Given the description of an element on the screen output the (x, y) to click on. 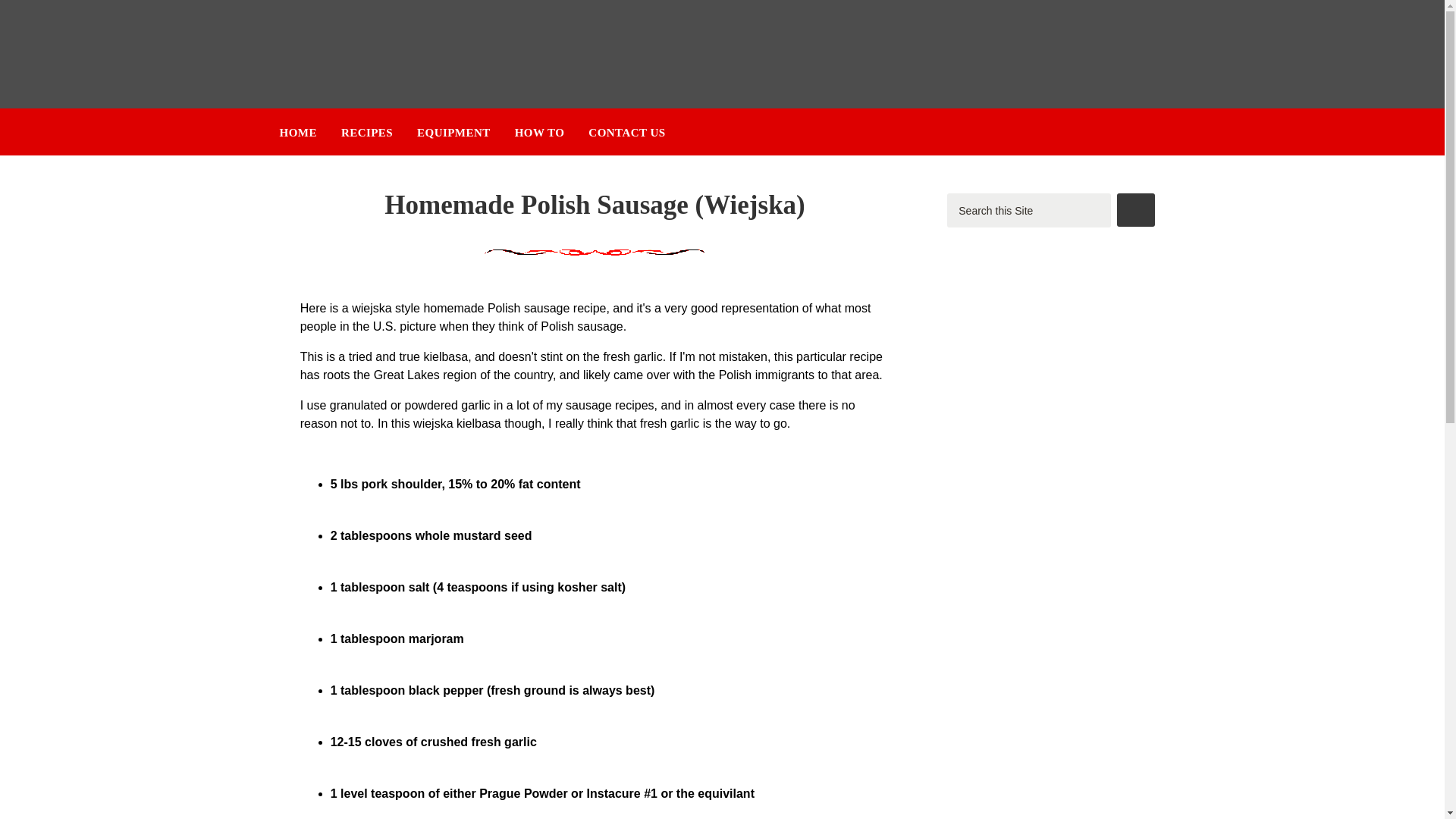
HOME (297, 132)
CONTACT US (626, 132)
Go (1135, 209)
Search this Site (1028, 210)
Go (1135, 209)
Search this Site (1028, 210)
LETS-MAKE-SAUSAGE.COM (413, 53)
